Given the description of an element on the screen output the (x, y) to click on. 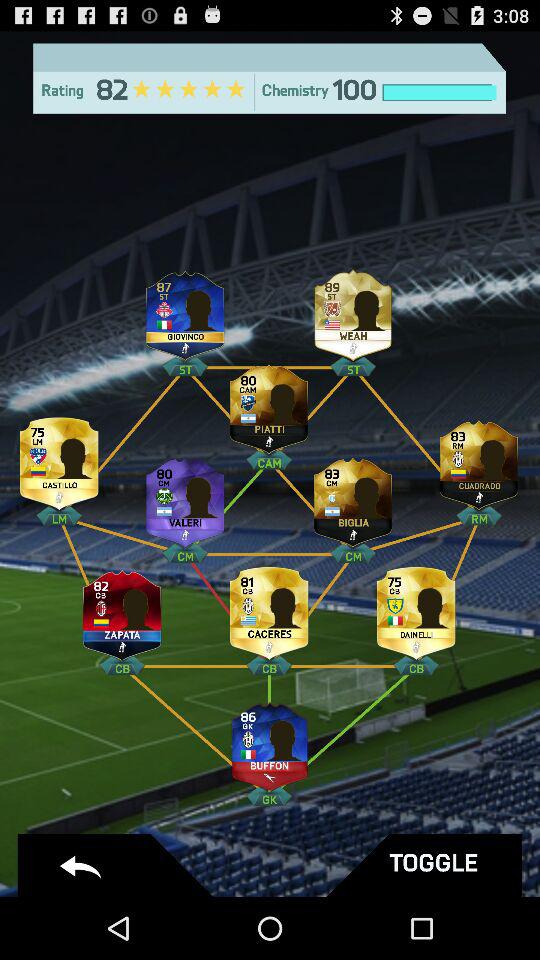
select platti player (269, 404)
